Given the description of an element on the screen output the (x, y) to click on. 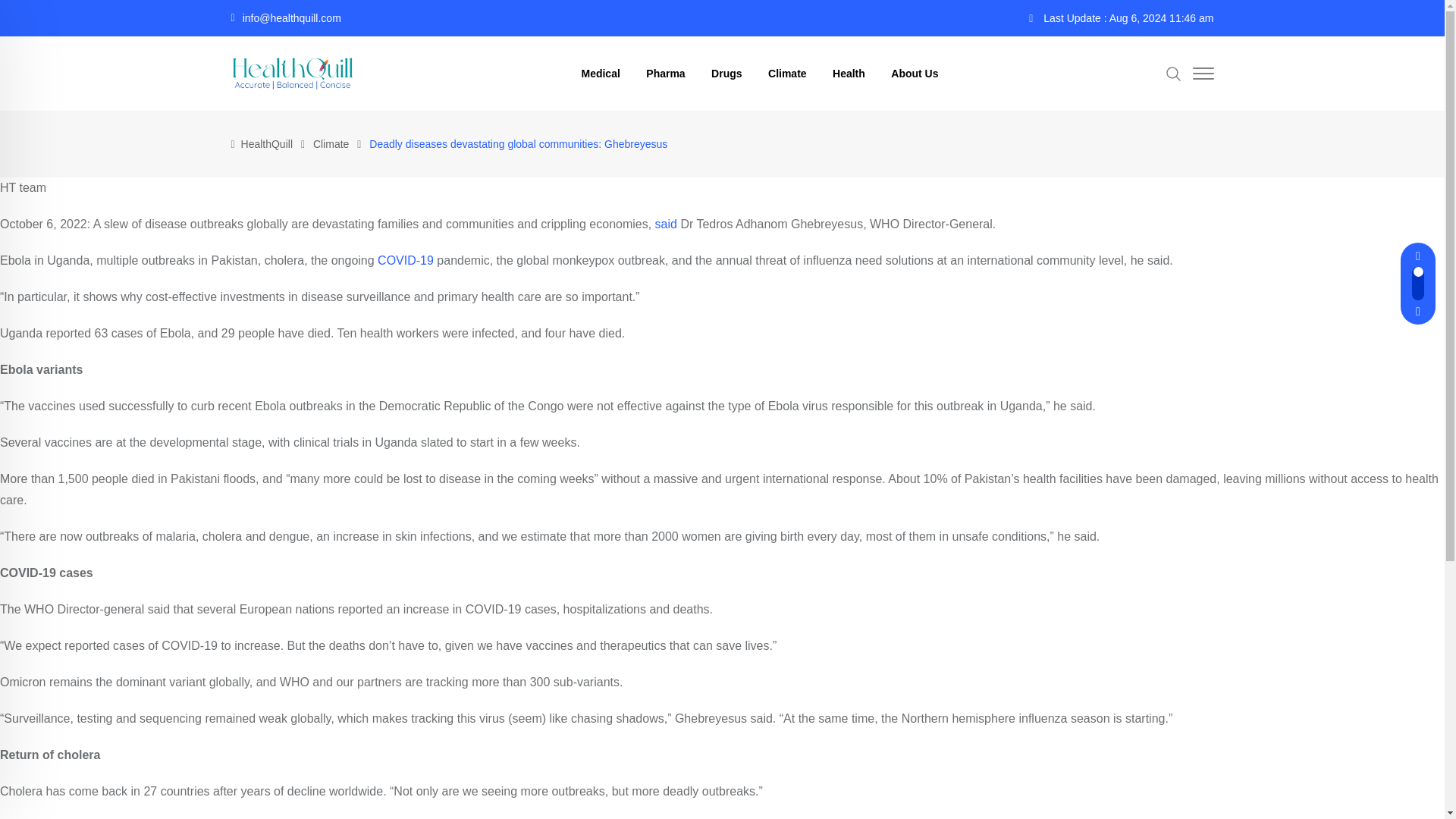
HealthQuill (266, 143)
Climate (331, 143)
Climate (813, 677)
Health (877, 677)
Go to the Climate category archives. (331, 143)
Pharma (687, 677)
Go to HealthQuill. (266, 143)
Search (1173, 72)
Medical (619, 677)
Drugs (750, 677)
